Given the description of an element on the screen output the (x, y) to click on. 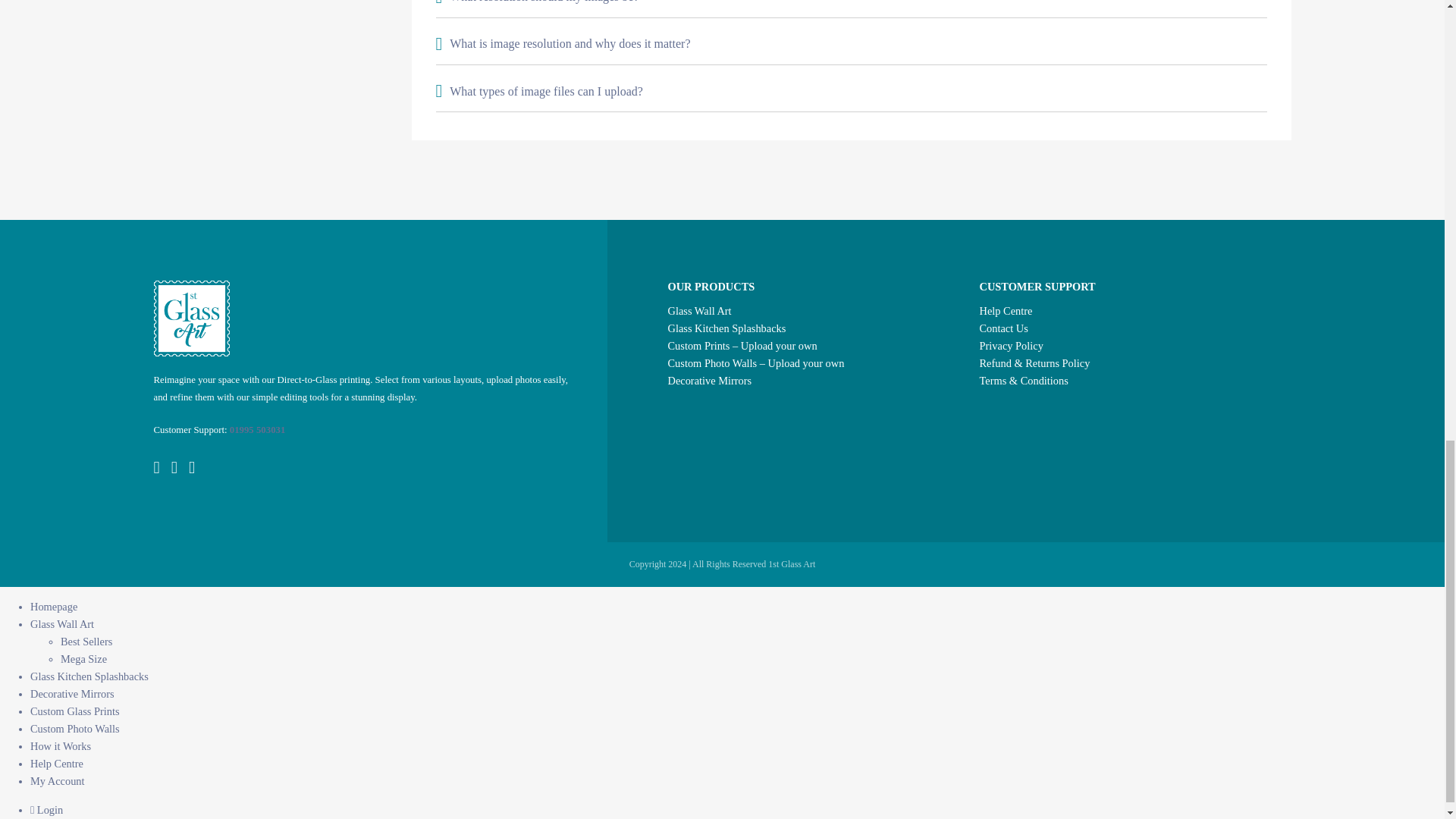
What is image resolution and why does it matter? (850, 43)
What resolution should my images be? (850, 8)
What types of image files can I upload? (850, 90)
01995 503031 (257, 429)
